Given the description of an element on the screen output the (x, y) to click on. 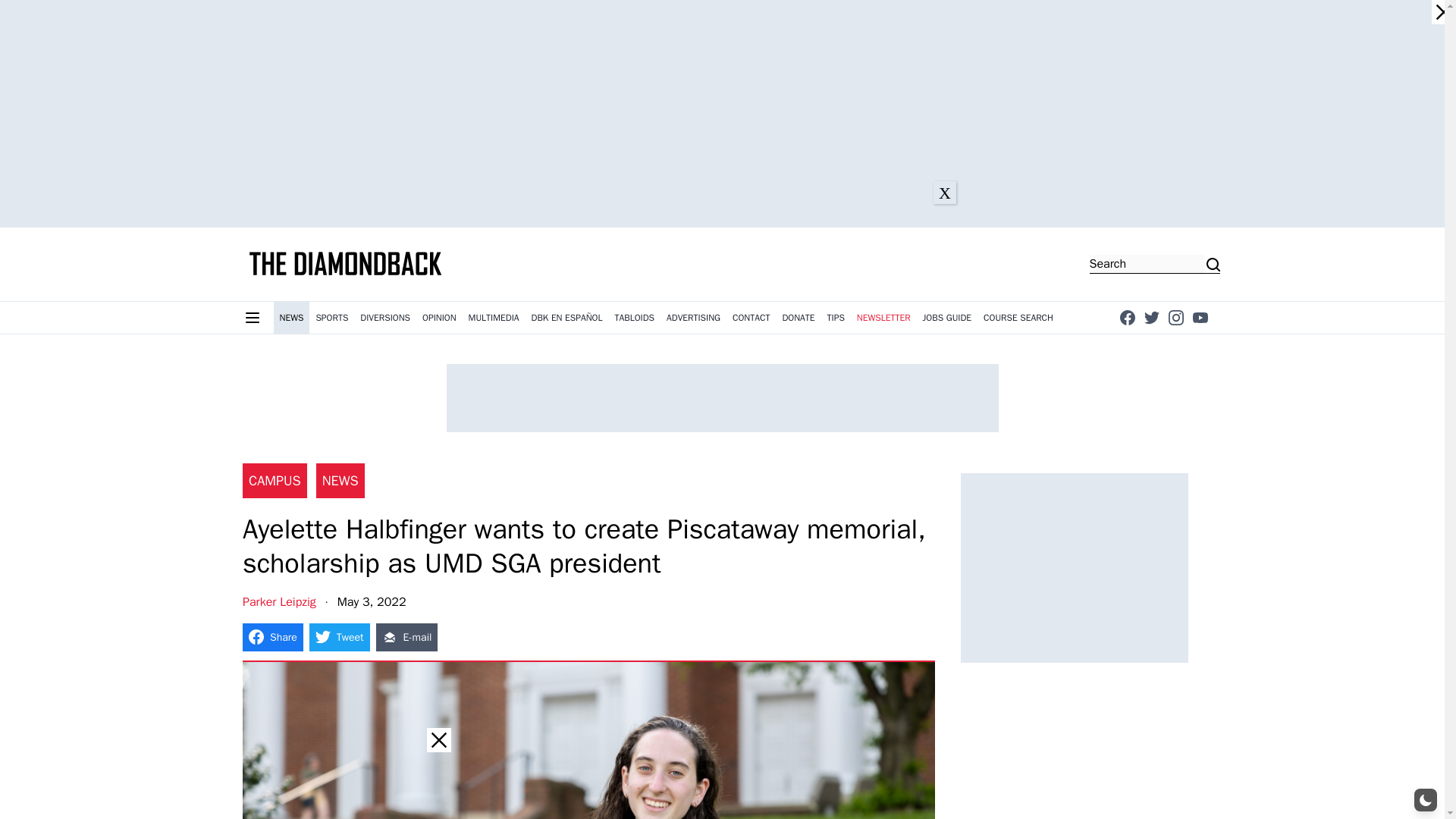
SPORTS (330, 317)
Jobs Guide (947, 317)
NEWS (290, 317)
JOBS GUIDE (947, 317)
COURSE SEARCH (1017, 317)
OPINION (439, 317)
Newsletter (883, 317)
Contact (751, 317)
Multimedia (494, 317)
TIPS (835, 317)
Tabloids (634, 317)
ADVERTISING (693, 317)
DIVERSIONS (384, 317)
MULTIMEDIA (494, 317)
Opinion (439, 317)
